Given the description of an element on the screen output the (x, y) to click on. 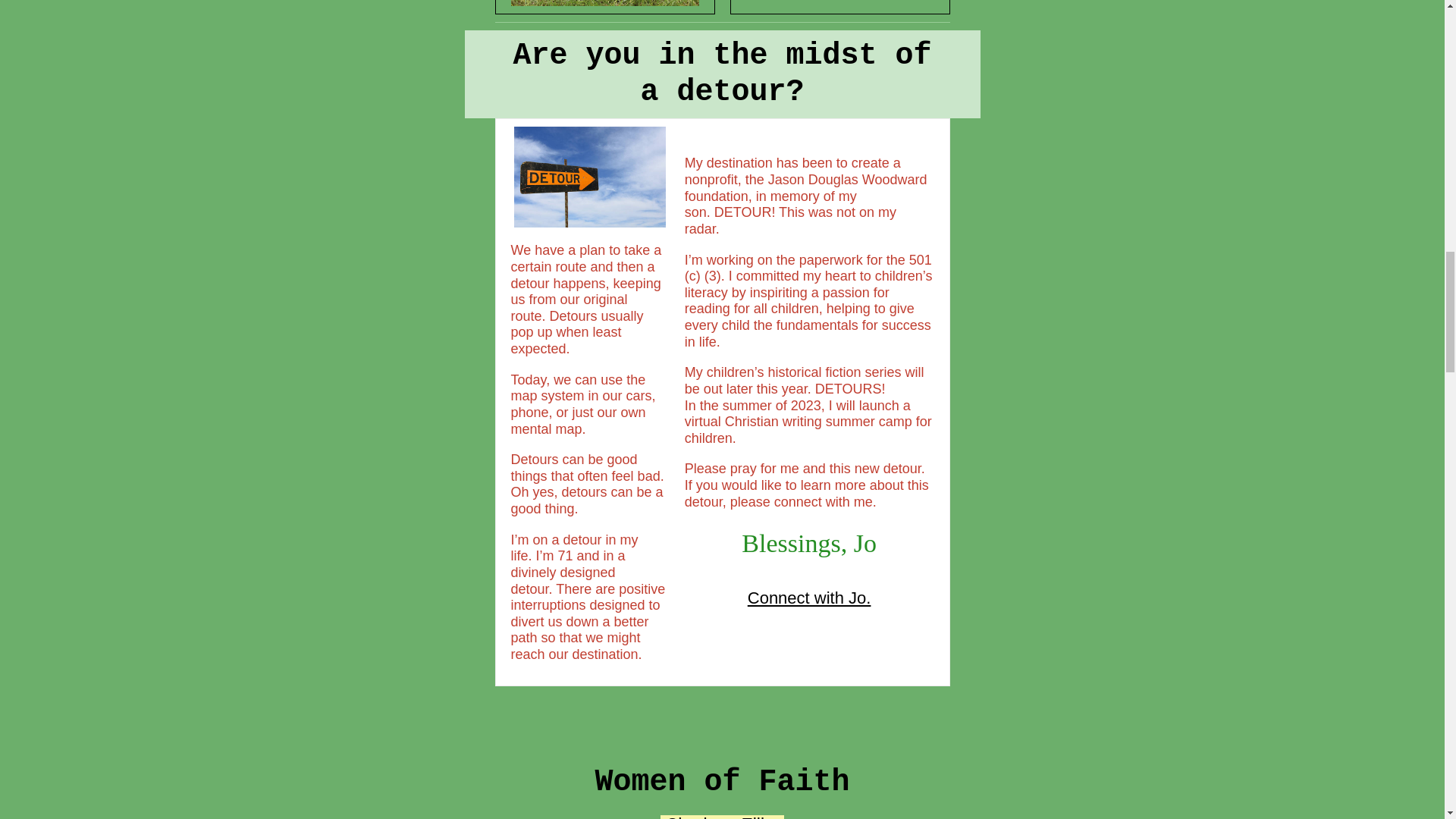
Connect with Jo. (809, 597)
